Given the description of an element on the screen output the (x, y) to click on. 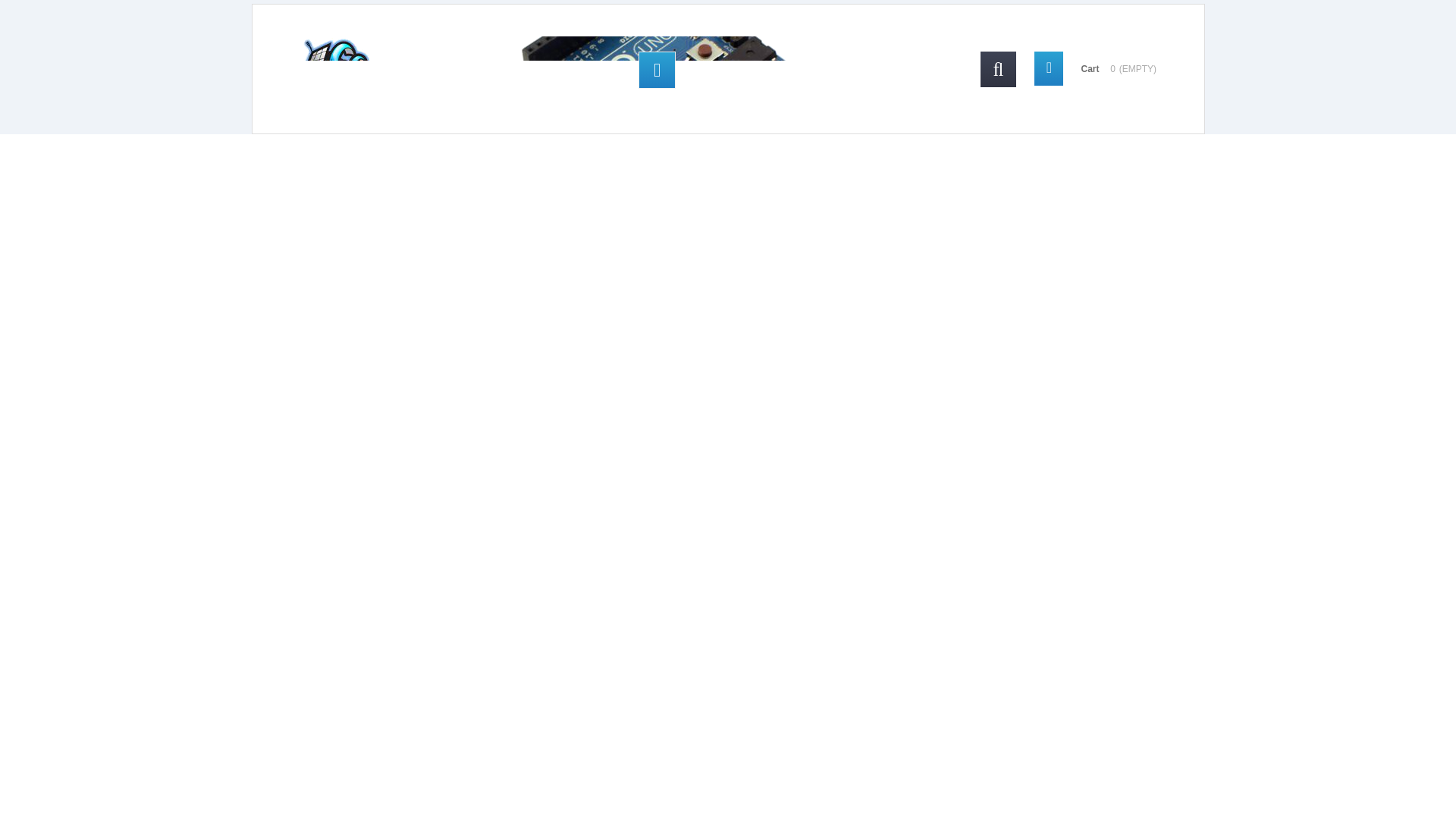
Boutique Semageek (568, 70)
View my shopping cart (1102, 68)
Login (657, 69)
